Given the description of an element on the screen output the (x, y) to click on. 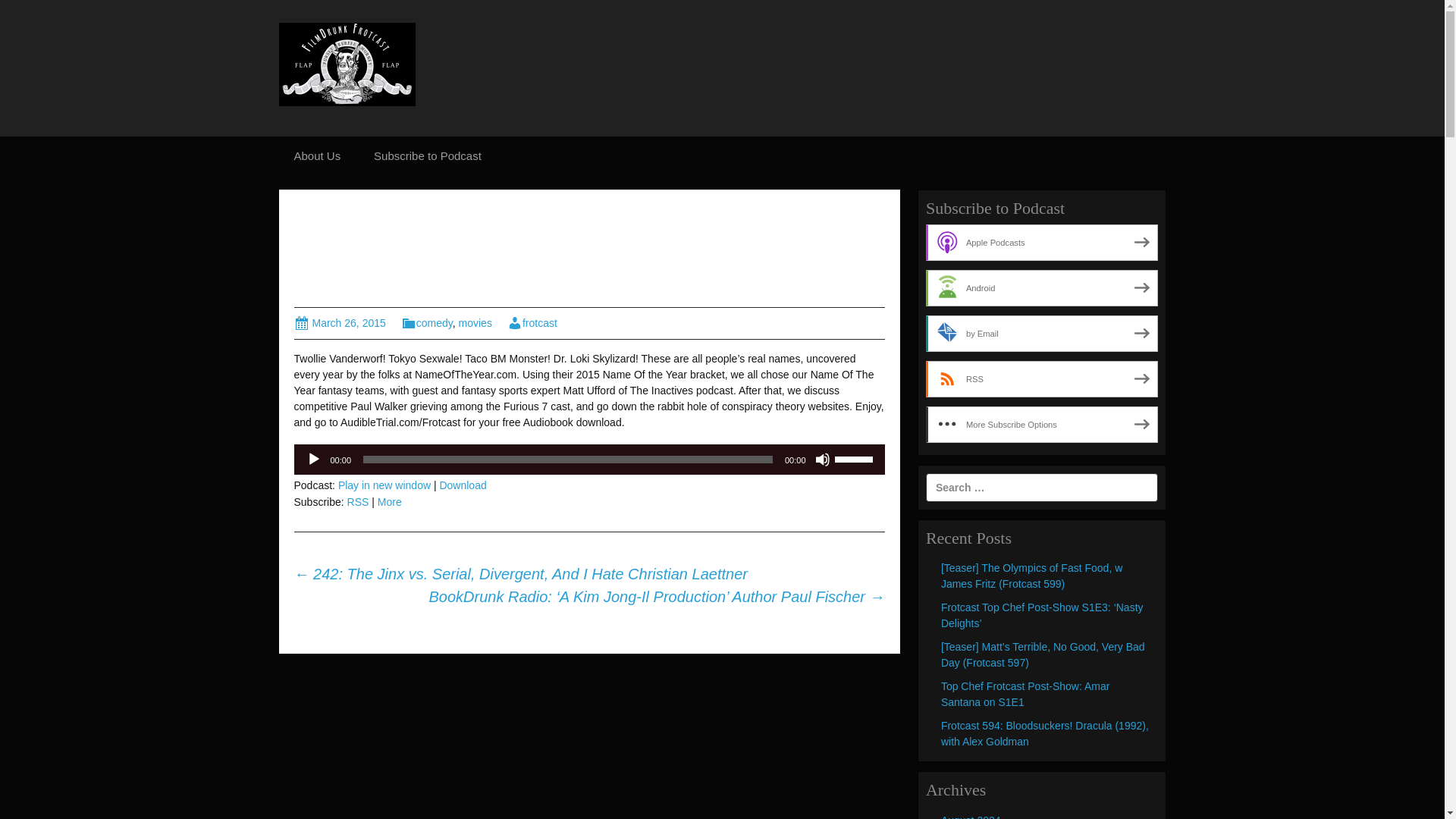
Top Chef Frotcast Post-Show: Amar Santana on S1E1 (1024, 694)
More Subscribe Options (1041, 424)
Subscribe via RSS (1041, 379)
More (389, 501)
March 26, 2015 (339, 322)
RSS (1041, 379)
Subscribe by Email (1041, 333)
Play in new window (383, 485)
by Email (1041, 333)
